Given the description of an element on the screen output the (x, y) to click on. 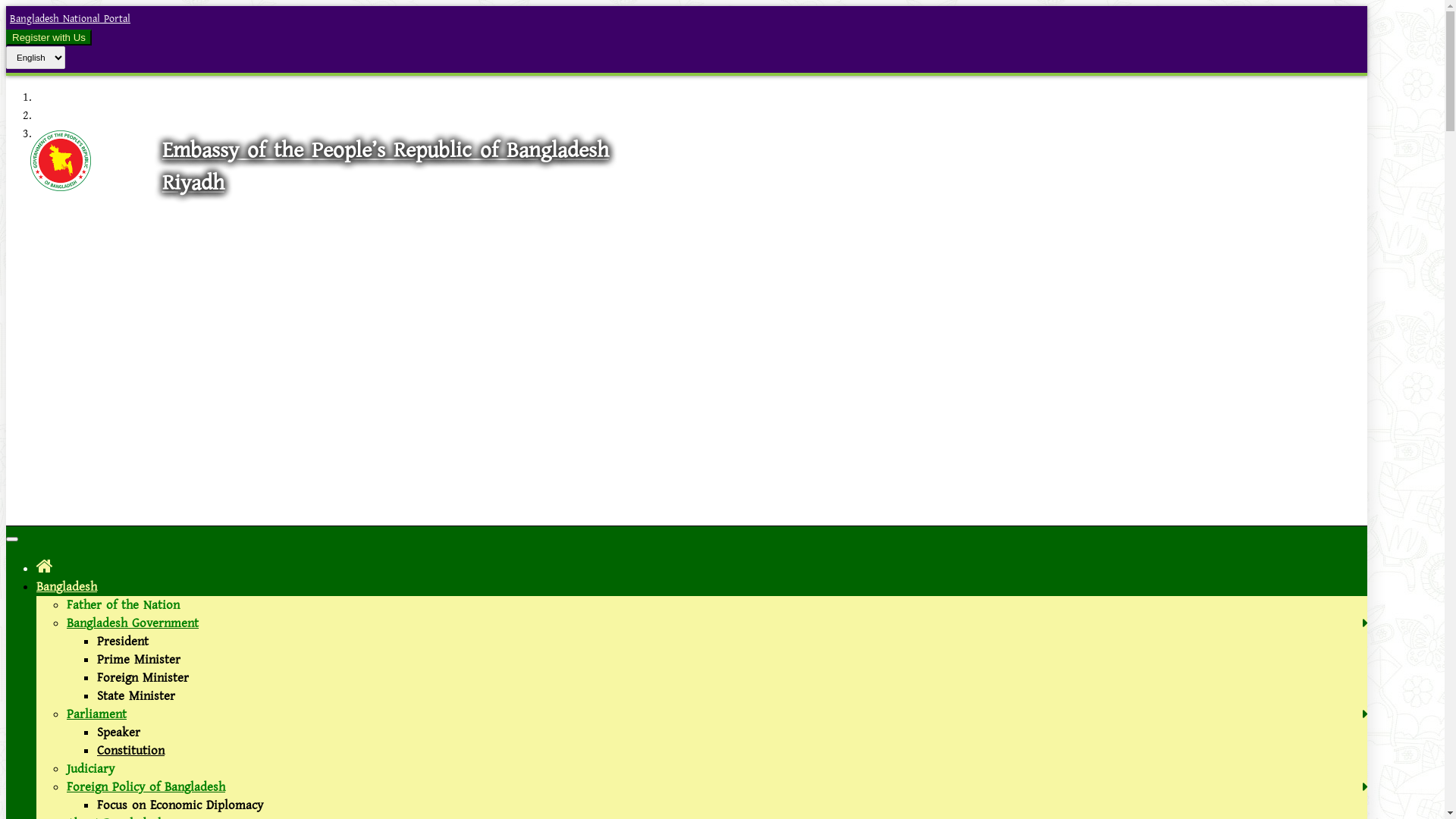
Constitution Element type: text (130, 750)
Bangladesh National Portal Element type: text (68, 18)
Register with Us Element type: text (48, 37)
Prime Minister Element type: text (138, 659)
Register with Us Element type: text (48, 37)
State Minister Element type: text (136, 696)
Bangladesh Element type: text (66, 586)
Focus on Economic Diplomacy Element type: text (180, 805)
Father of the Nation Element type: text (122, 605)
Home Element type: hover (44, 567)
Foreign Minister Element type: text (142, 677)
Foreign Policy of Bangladesh Element type: text (145, 787)
Bangladesh Government Element type: text (132, 623)
Parliament Element type: text (96, 714)
Judiciary Element type: text (90, 768)
Logo Element type: hover (60, 186)
Speaker Element type: text (118, 732)
President Element type: text (122, 641)
